Given the description of an element on the screen output the (x, y) to click on. 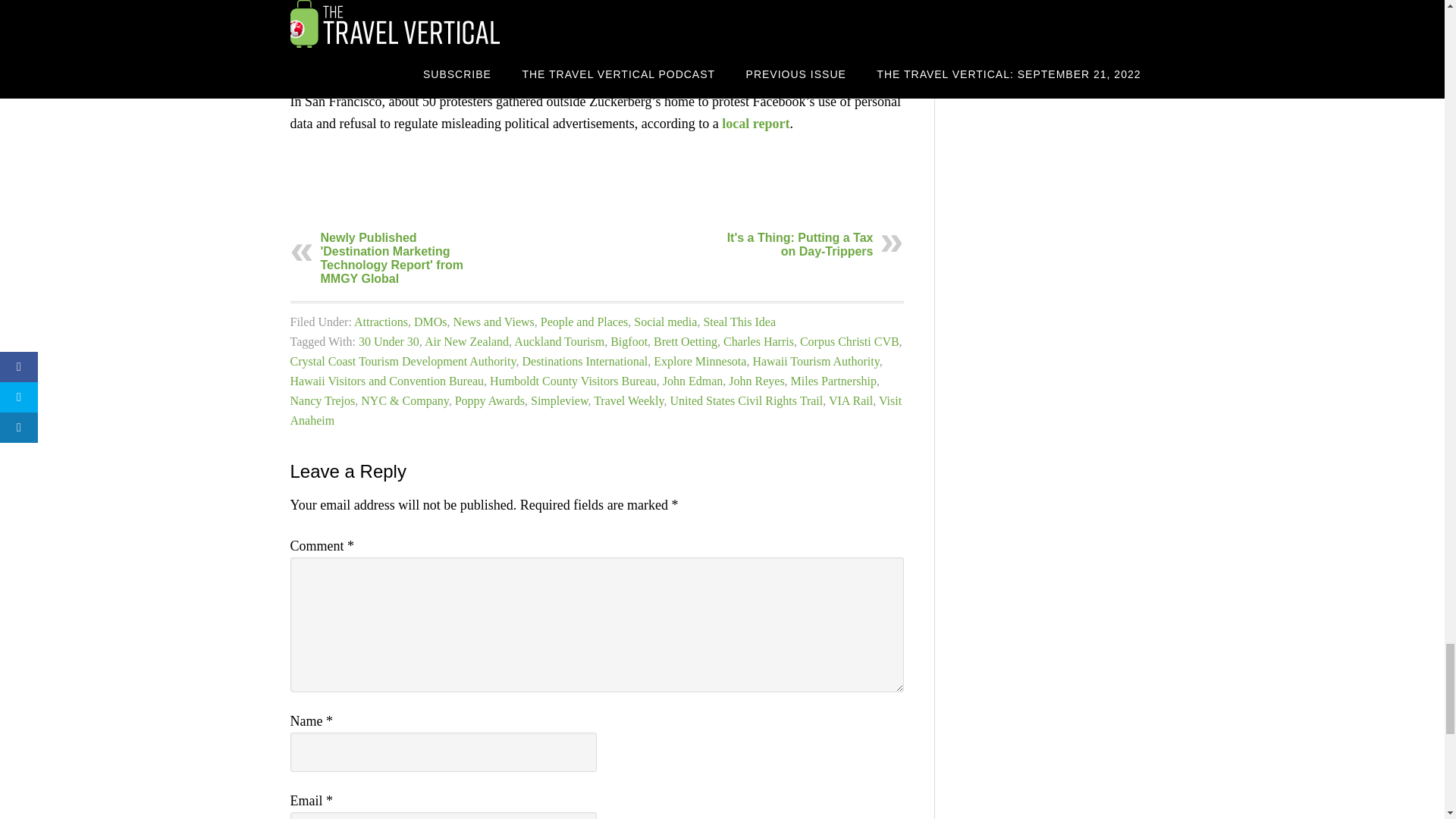
Corpus Christi CVB (849, 341)
Air New Zealand (466, 341)
Attractions (380, 321)
People and Places (584, 321)
Bigfoot (628, 341)
It's a Thing: Putting a Tax on Day-Trippers (799, 243)
Auckland Tourism (558, 341)
Brett Oetting (685, 341)
30 Under 30 (388, 341)
News and Views (493, 321)
